Given the description of an element on the screen output the (x, y) to click on. 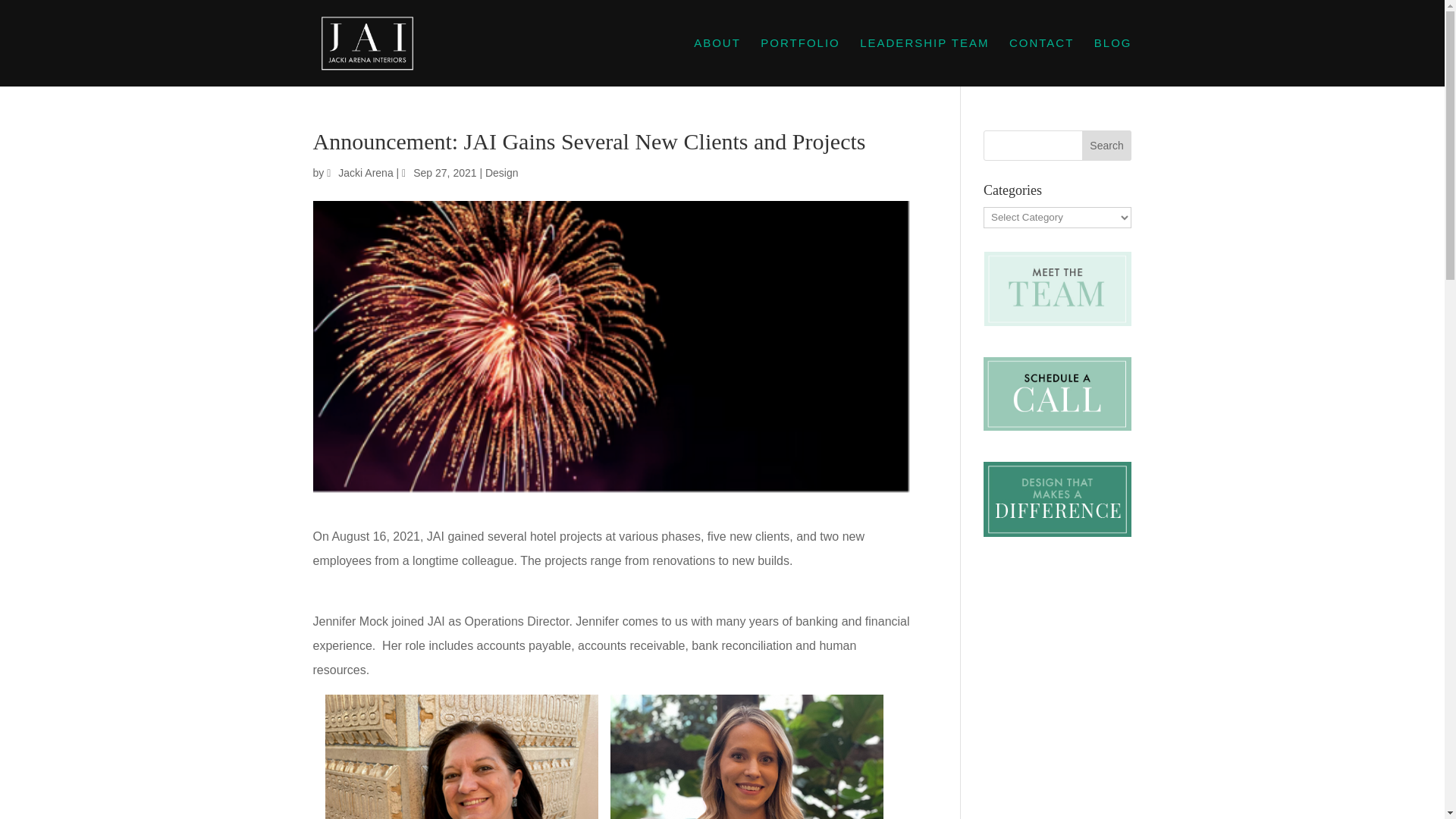
CONTACT (1041, 61)
Design (501, 173)
ABOUT (717, 61)
Search (1106, 145)
Search (1106, 145)
PORTFOLIO (800, 61)
Jacki Arena (365, 173)
LEADERSHIP TEAM (924, 61)
Posts by Jacki Arena (365, 173)
